Given the description of an element on the screen output the (x, y) to click on. 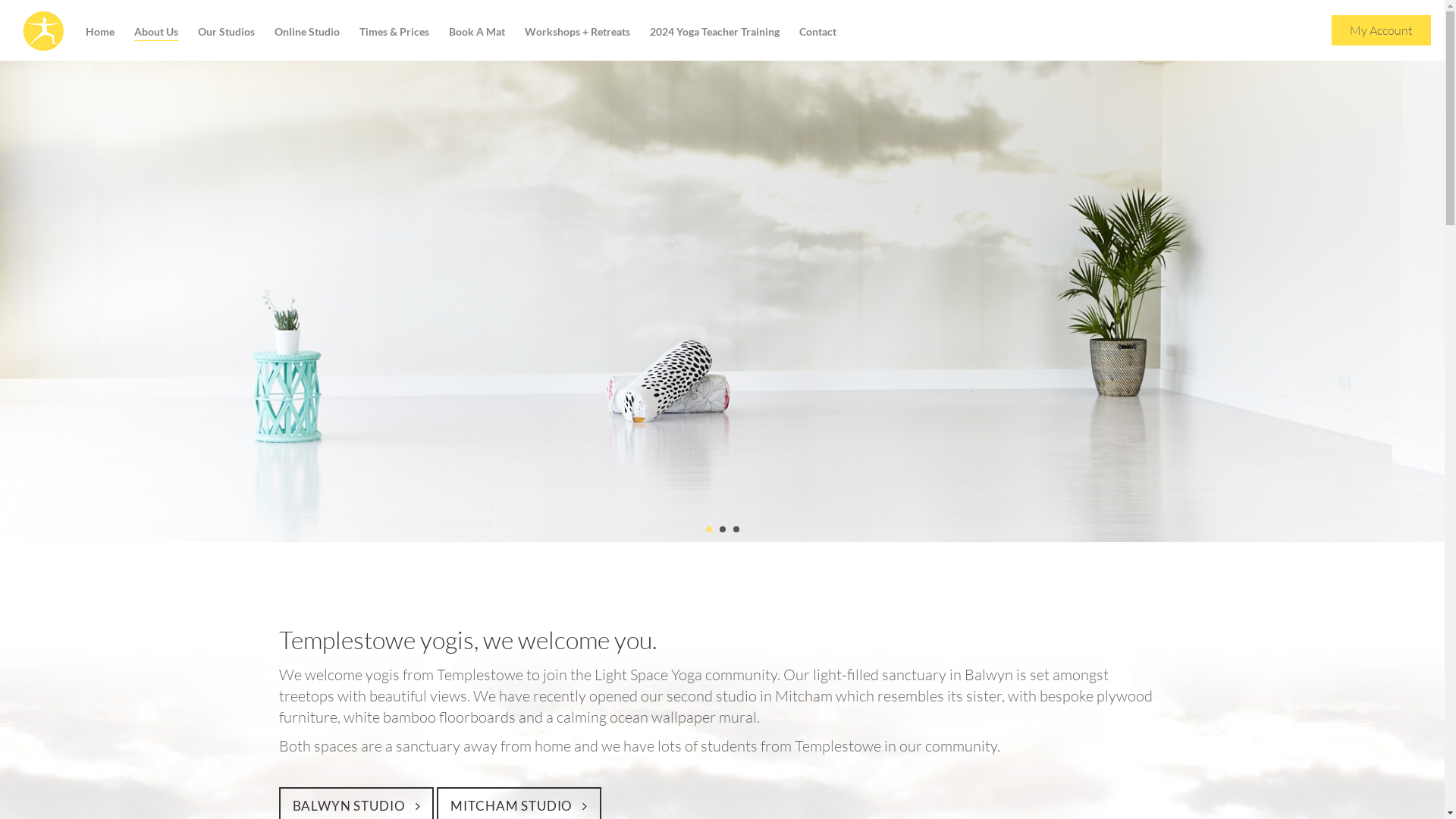
Contact Element type: text (817, 34)
Light Space Yoga Balwyn Yoga Studio Element type: hover (48, 39)
Home Element type: text (99, 34)
Book A Mat Element type: text (476, 34)
Times & Prices Element type: text (394, 34)
Workshops + Retreats Element type: text (577, 34)
2024 Yoga Teacher Training Element type: text (714, 34)
My Account Element type: text (1380, 30)
Online Studio Element type: text (306, 34)
About Us Element type: text (156, 34)
Our Studios Element type: text (225, 34)
